Given the description of an element on the screen output the (x, y) to click on. 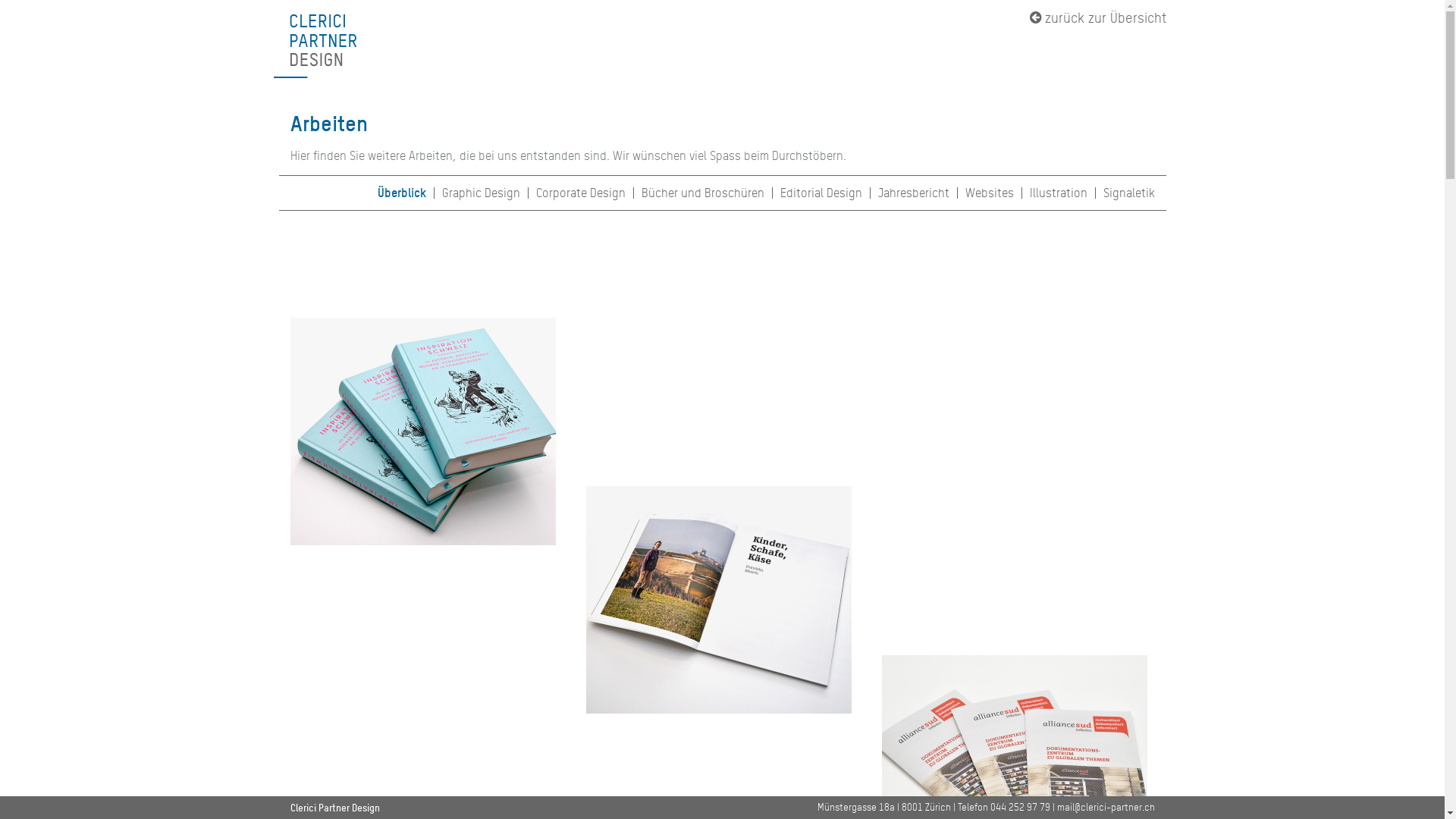
Websites Element type: text (988, 192)
Jahresbericht Element type: text (913, 192)
Corporate Design Element type: text (579, 192)
Editorial Design Element type: text (820, 192)
mail@clerici-partner.ch Element type: text (1105, 806)
Illustration Element type: text (1058, 192)
Graphic Design Element type: text (480, 192)
Signaletik Element type: text (1128, 192)
